Given the description of an element on the screen output the (x, y) to click on. 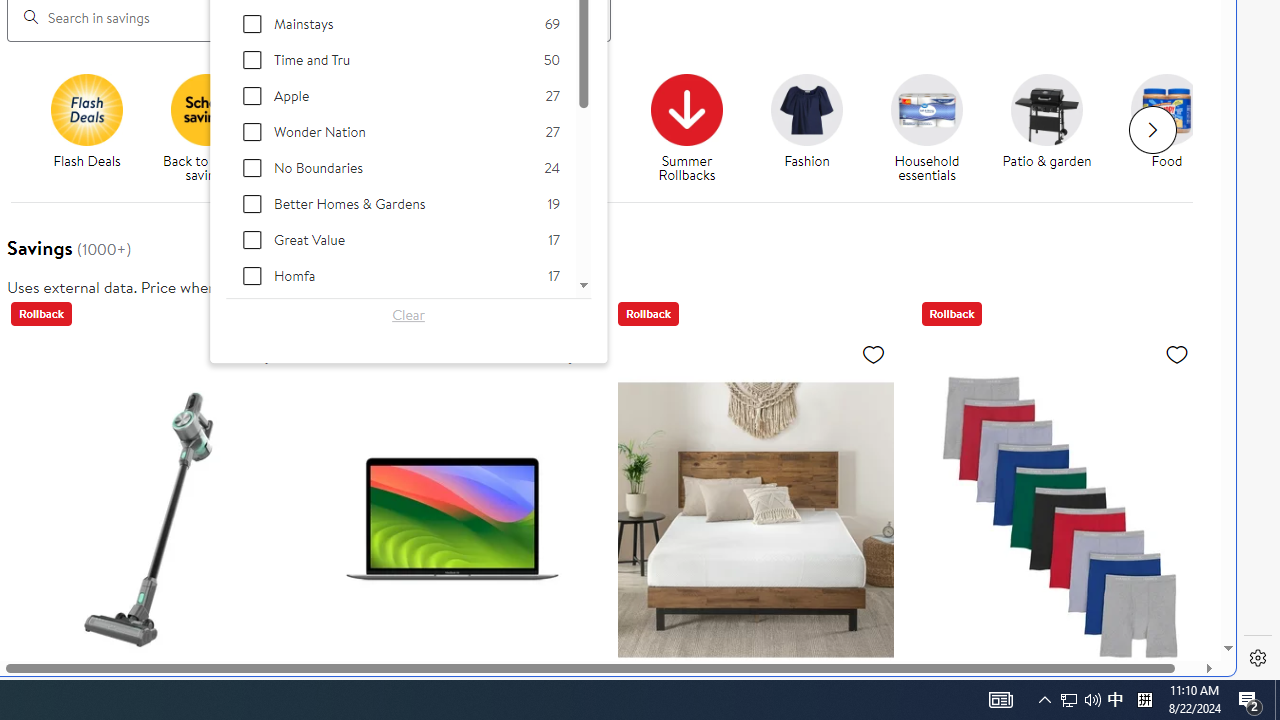
Get it today (574, 128)
Get it today (566, 109)
Back to School savings (207, 109)
Summer Rollbacks (694, 128)
Back to College savings Back to college savings (326, 128)
$20 and under $20 & under (447, 122)
Patio & garden (1054, 128)
Household essentials (934, 128)
Zinus Spa Sensations Serenity 8" Memory Foam Mattress, Full (755, 519)
Get it today Get it today (566, 122)
Flash deals (86, 109)
Summer Rollbacks (687, 109)
